Given the description of an element on the screen output the (x, y) to click on. 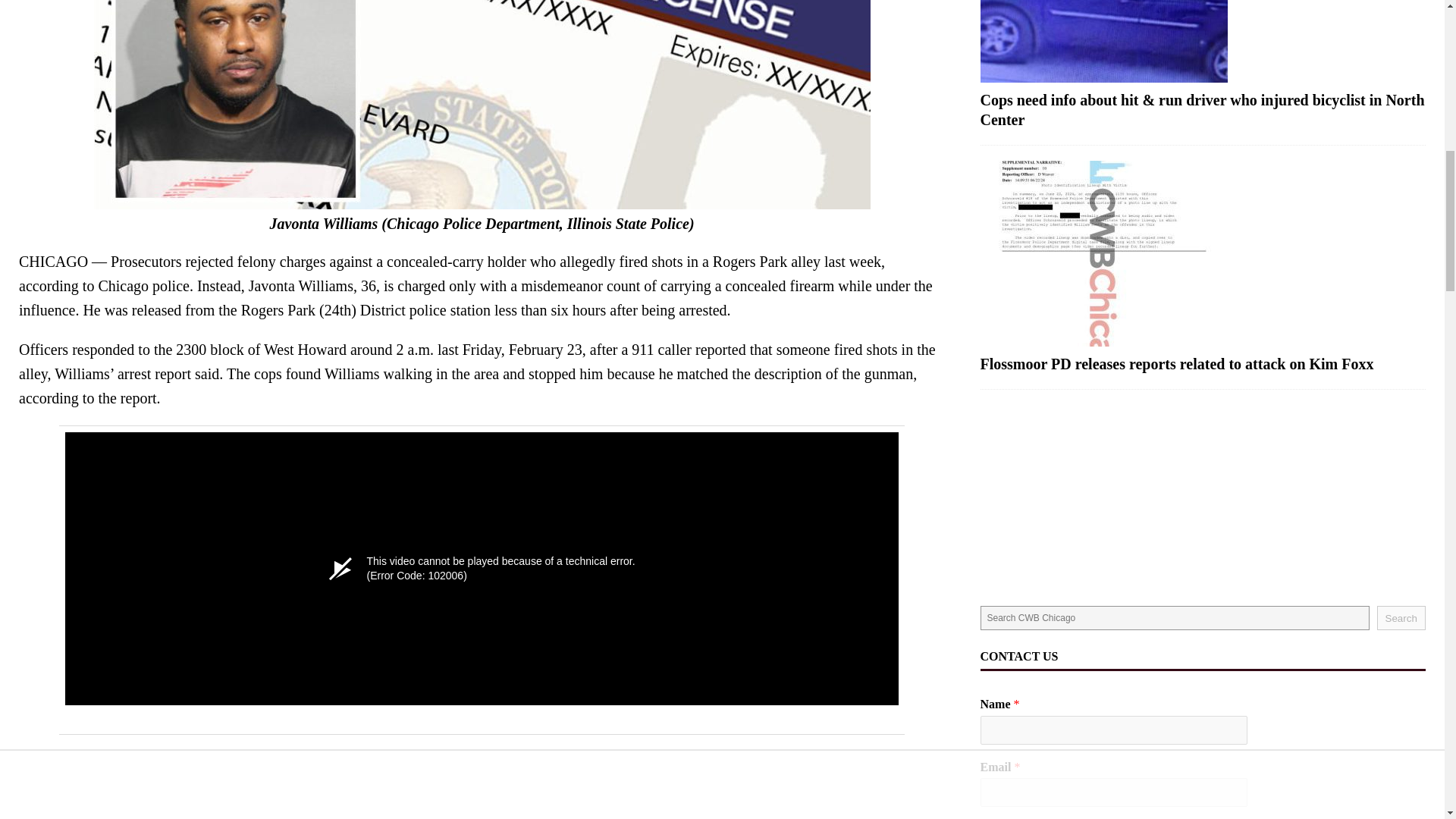
Flossmoor PD releases reports related to attack on Kim Foxx (1176, 363)
Flossmoor PD releases reports related to attack on Kim Foxx (1202, 253)
Search (1401, 617)
Flossmoor PD releases reports related to attack on Kim Foxx (1176, 363)
